Given the description of an element on the screen output the (x, y) to click on. 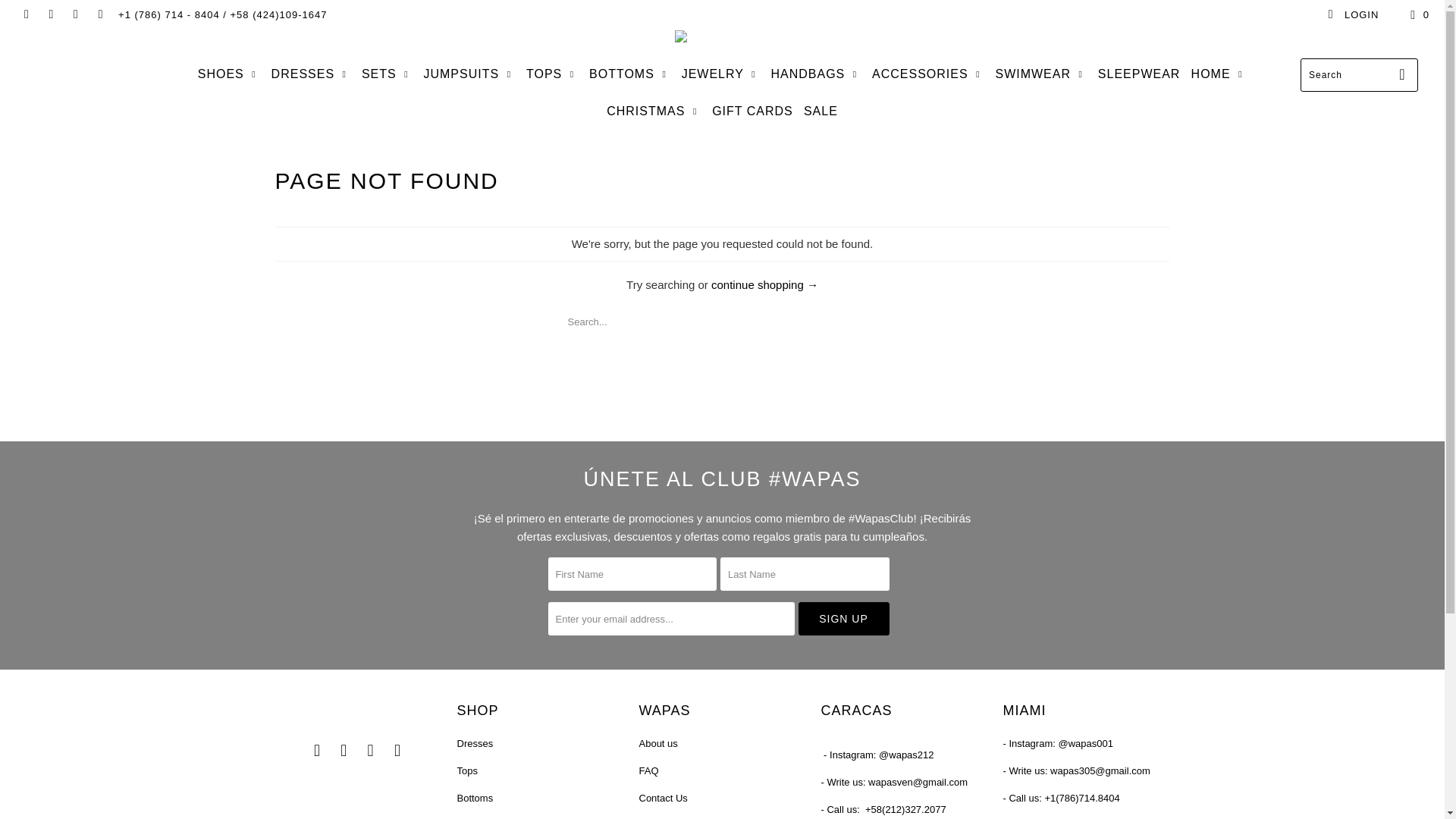
My Account  (1352, 15)
Wapas on Facebook (25, 14)
Wapas on Pinterest (50, 14)
Wapas on Instagram (370, 751)
Wapas on Pinterest (344, 751)
Wapas on Instagram (74, 14)
Sign Up (842, 618)
Wapas on Facebook (317, 751)
Email Wapas (398, 751)
Email Wapas (99, 14)
